Given the description of an element on the screen output the (x, y) to click on. 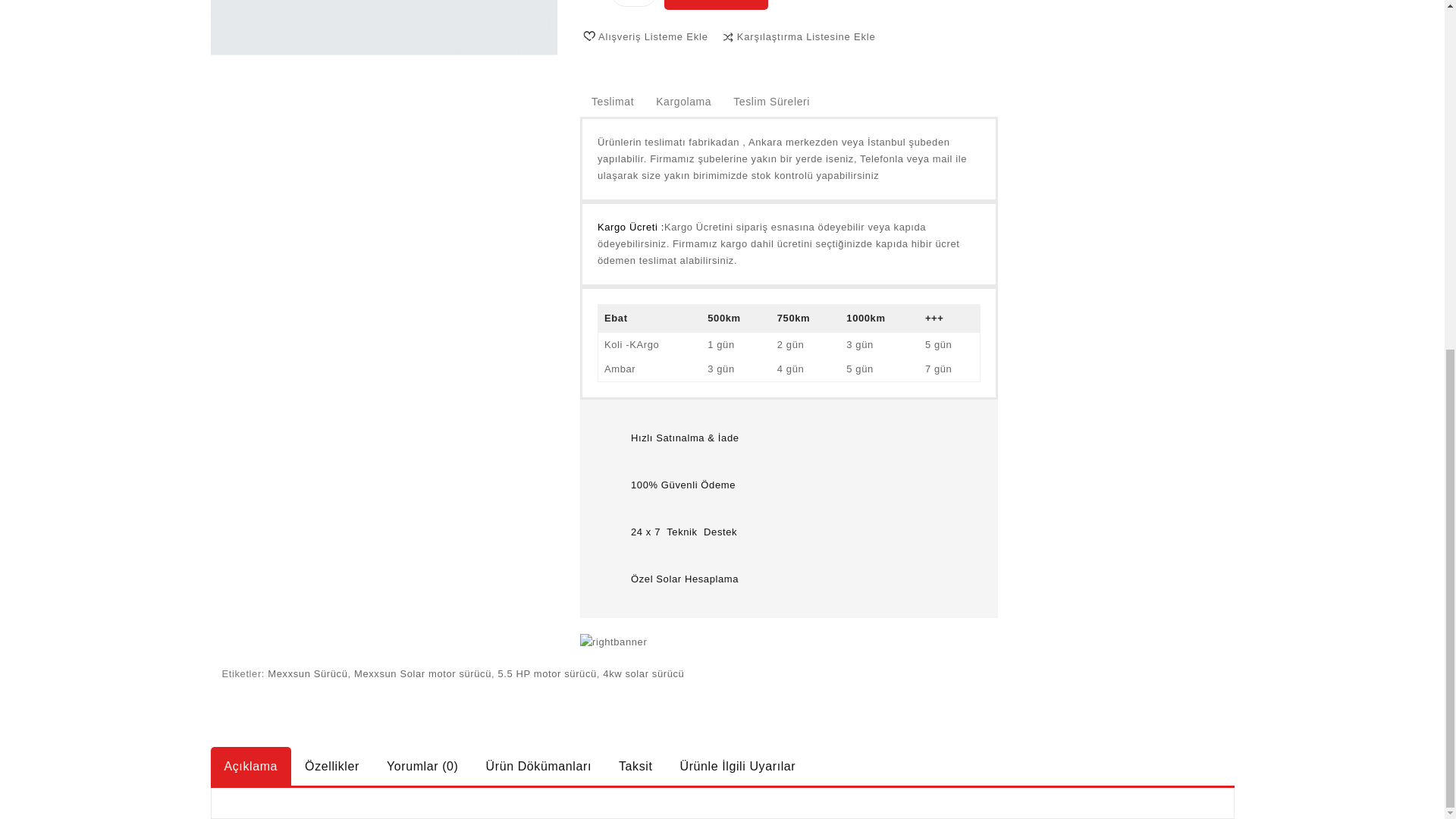
1 (633, 3)
rightbanner (612, 641)
